Given the description of an element on the screen output the (x, y) to click on. 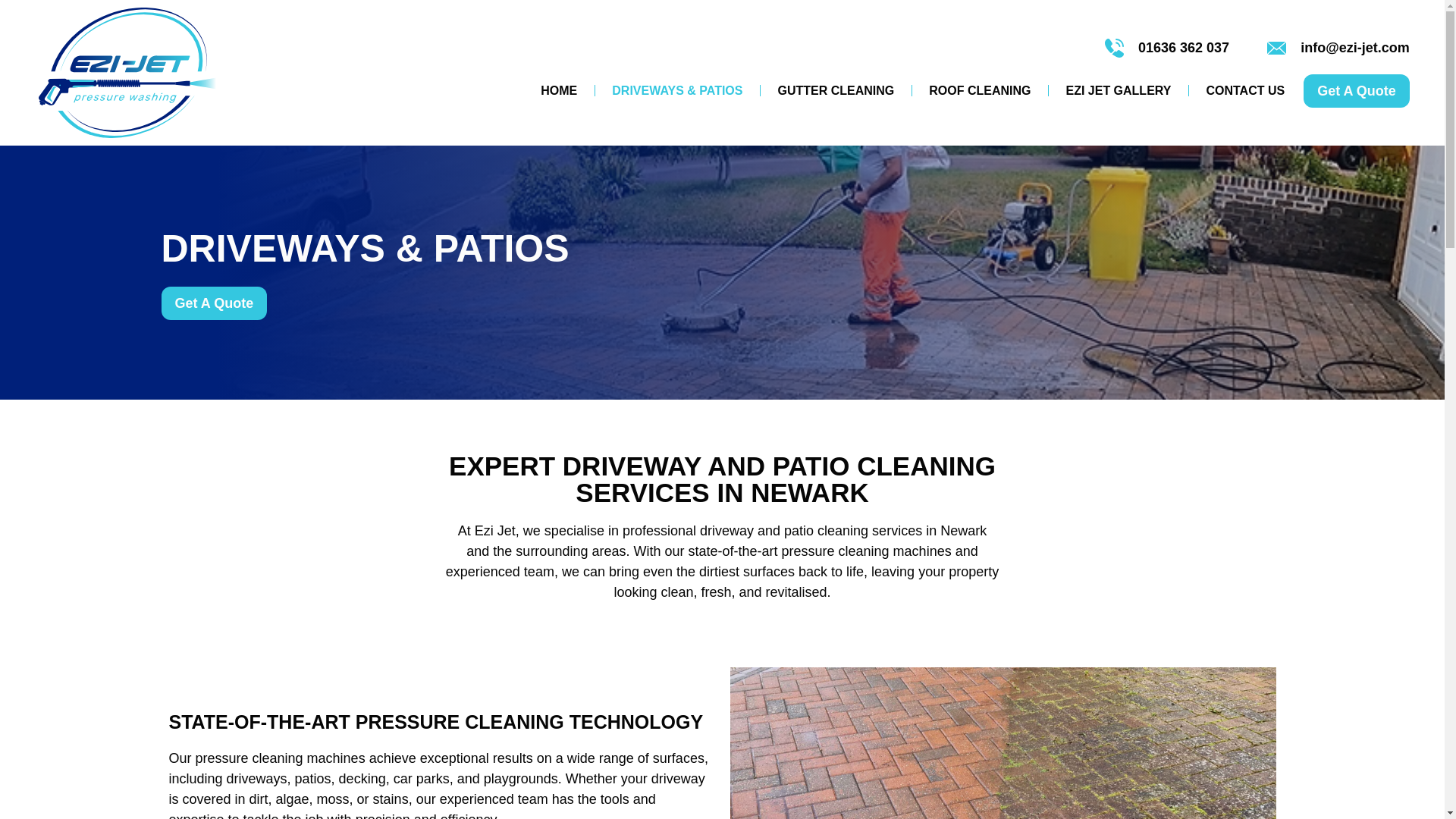
Get A Quote (213, 303)
01636 362 037 (1166, 47)
ROOF CLEANING (979, 90)
GUTTER CLEANING (834, 90)
HOME (558, 90)
Get A Quote (1356, 90)
EZI JET GALLERY (1117, 90)
CONTACT US (1245, 90)
